Given the description of an element on the screen output the (x, y) to click on. 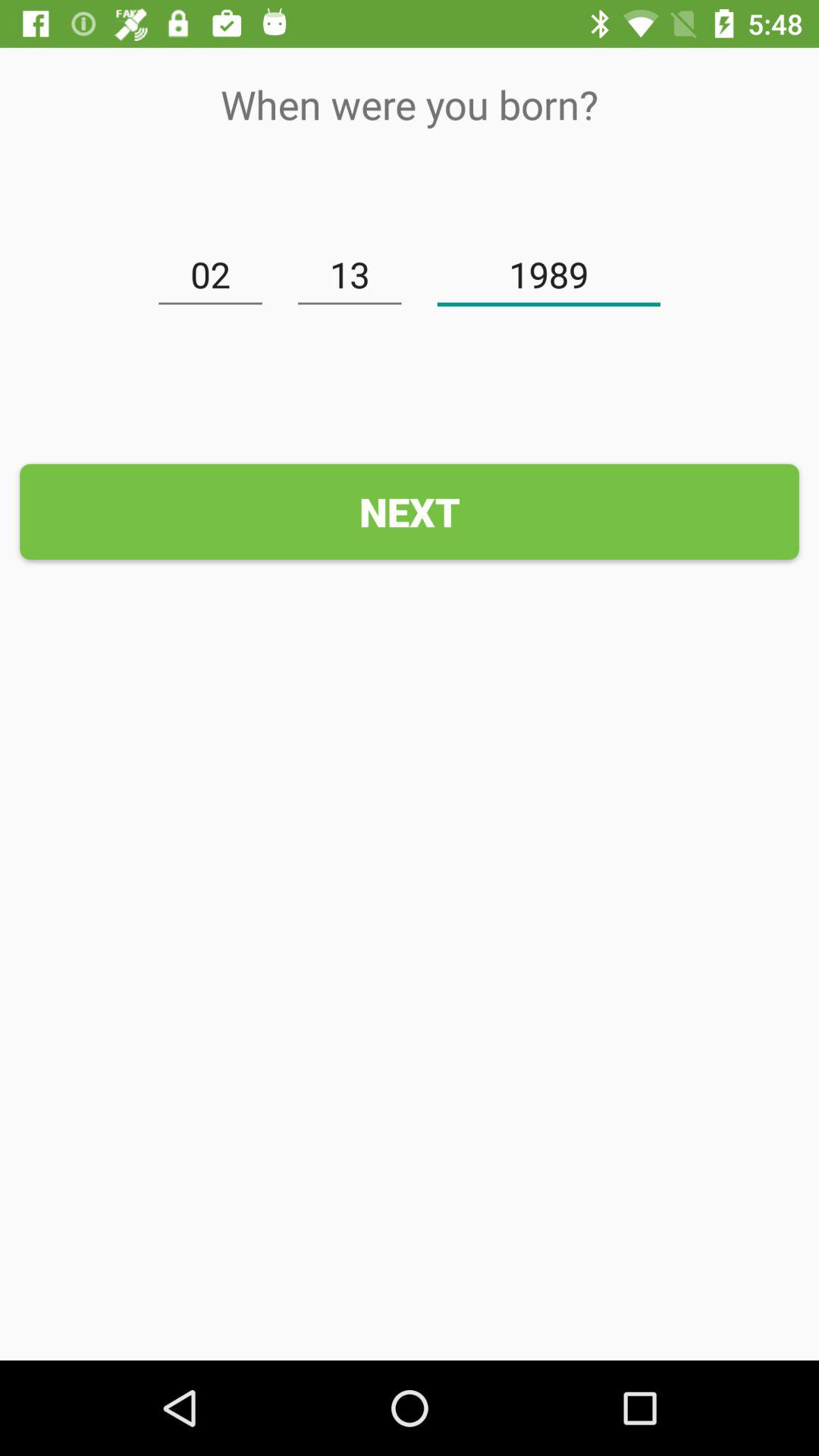
tap the icon above next item (210, 275)
